Given the description of an element on the screen output the (x, y) to click on. 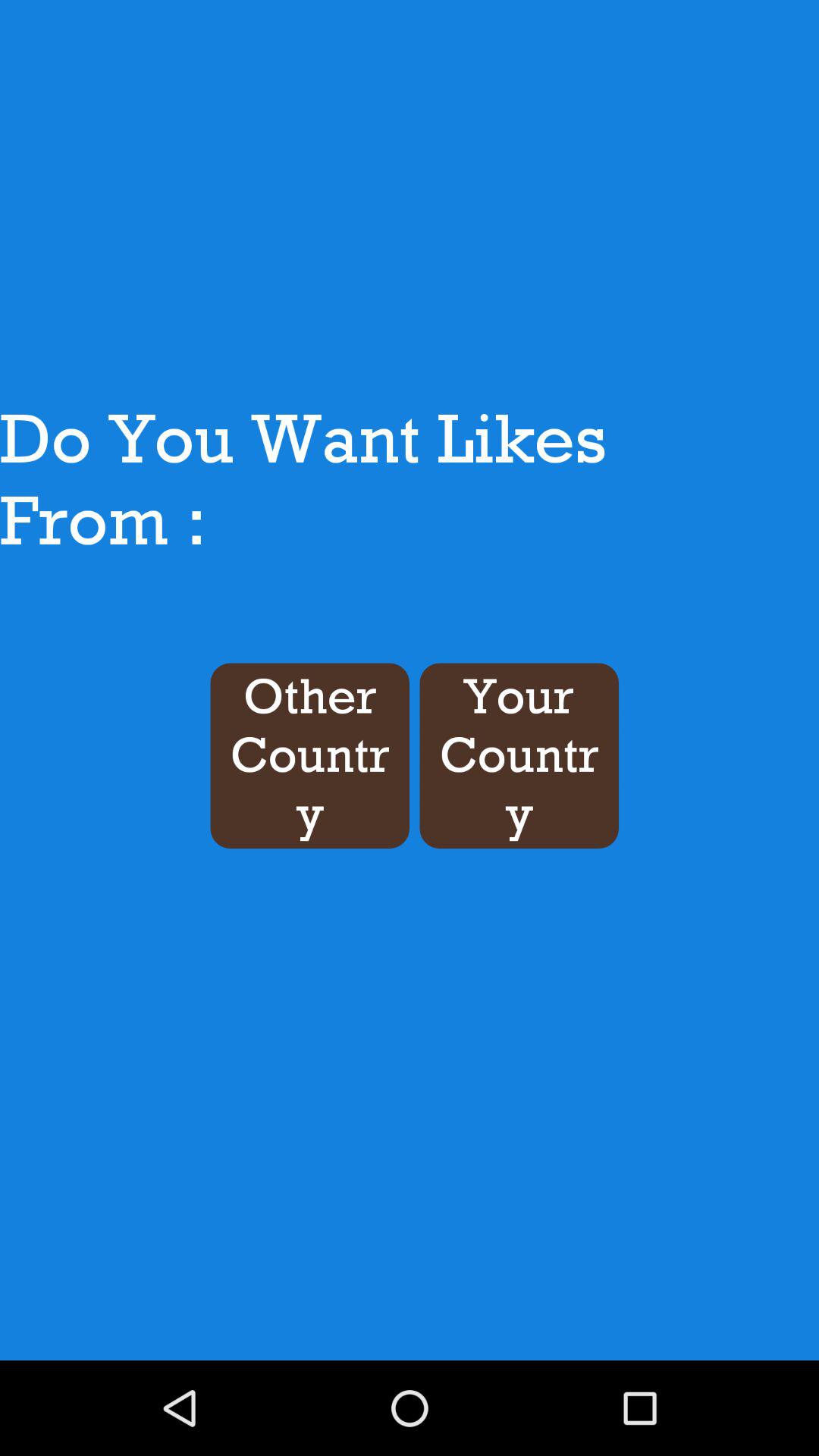
scroll to the your country item (518, 755)
